Given the description of an element on the screen output the (x, y) to click on. 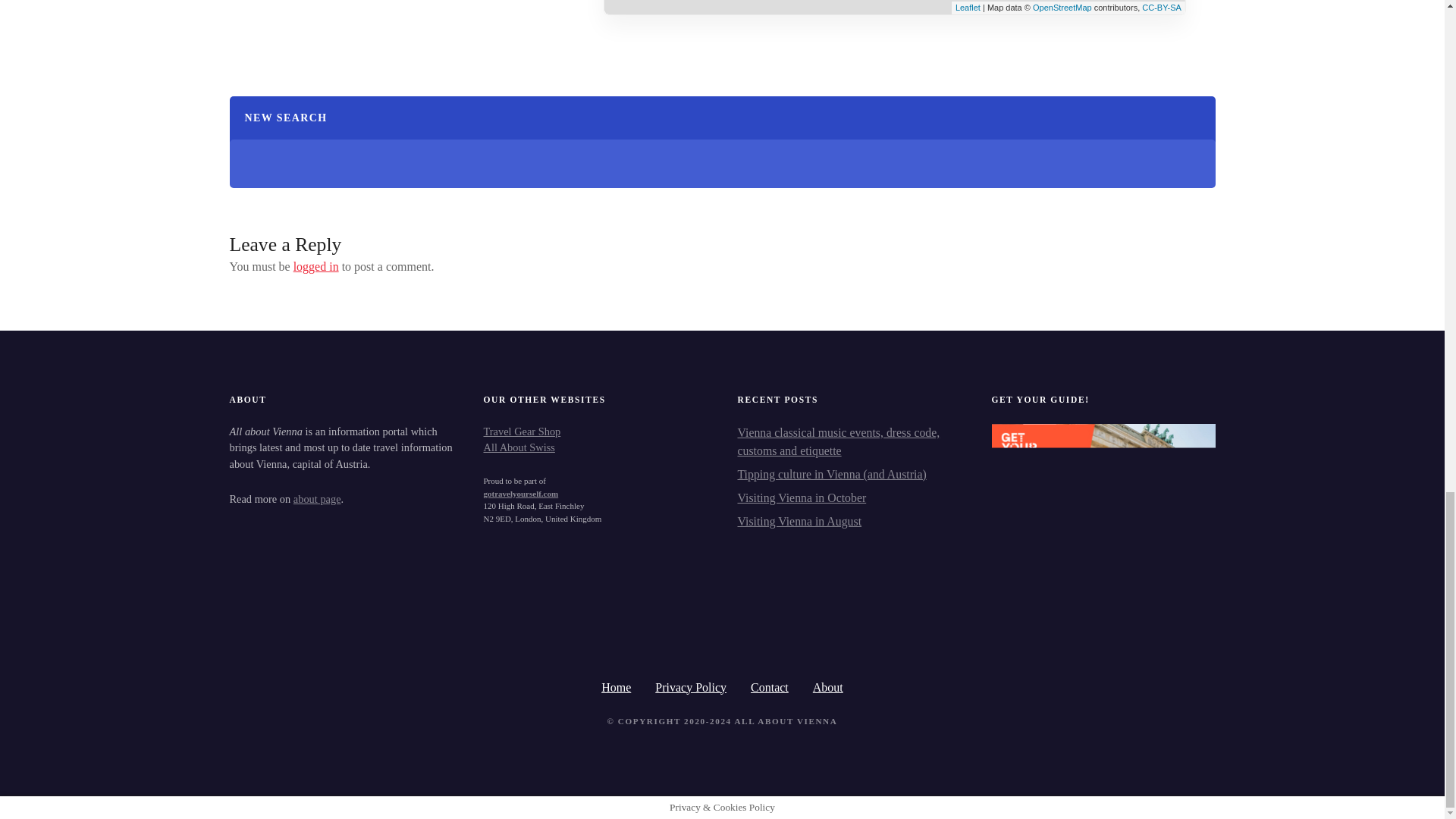
Leaflet (967, 7)
CC-BY-SA (1160, 7)
about page (317, 499)
OpenStreetMap (1062, 7)
A JS library for interactive maps (967, 7)
logged in (316, 266)
All About Swiss (518, 447)
Travel Gear Shop (521, 431)
gotravelyourself.com (521, 492)
